Given the description of an element on the screen output the (x, y) to click on. 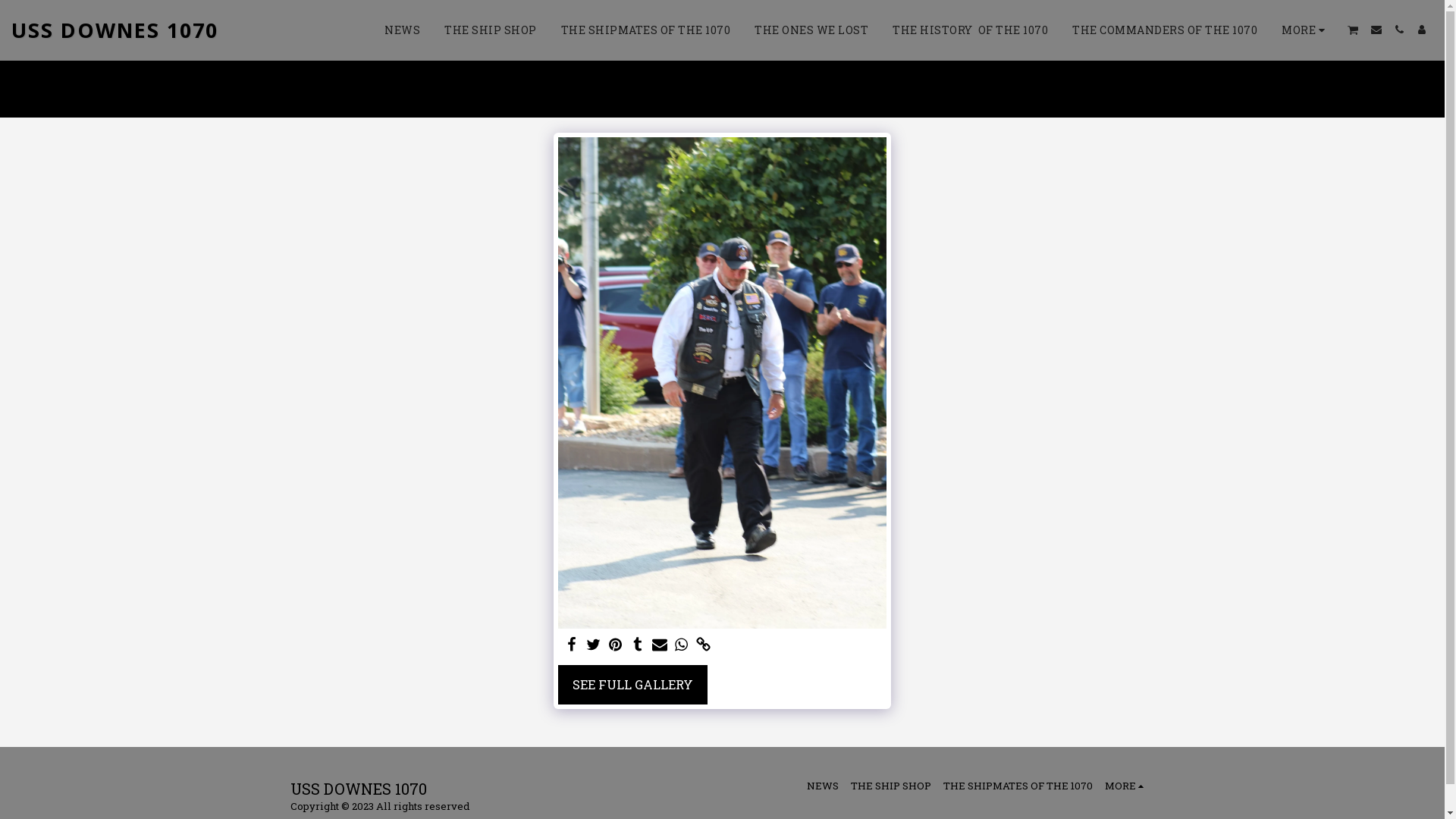
SEE FULL GALLERY Element type: text (632, 684)
  Element type: text (659, 645)
USS DOWNES 1070 Element type: text (114, 30)
link Element type: hover (703, 645)
  Element type: text (572, 645)
  Element type: text (1353, 29)
THE COMMANDERS OF THE 1070 Element type: text (1164, 29)
THE SHIPMATES OF THE 1070 Element type: text (645, 29)
  Element type: text (1421, 29)
tumblr Element type: hover (637, 645)
Share on Facebook Element type: hover (572, 645)
THE HISTORY  OF THE 1070 Element type: text (970, 29)
Tweet Element type: hover (594, 645)
NEWS Element type: text (822, 785)
THE SHIP SHOP Element type: text (890, 785)
whatsapp Element type: hover (681, 645)
MORE   Element type: text (1126, 785)
  Element type: text (1398, 29)
  Element type: text (616, 645)
NEWS Element type: text (402, 29)
THE SHIP SHOP Element type: text (490, 29)
  Element type: text (594, 645)
  Element type: text (681, 645)
  Element type: text (703, 645)
THE SHIPMATES OF THE 1070 Element type: text (1017, 785)
  Element type: text (637, 645)
  Element type: text (1375, 29)
THE ONES WE LOST Element type: text (811, 29)
Share by Email Element type: hover (659, 645)
MORE   Element type: text (1305, 29)
Pin it Element type: hover (616, 645)
